Given the description of an element on the screen output the (x, y) to click on. 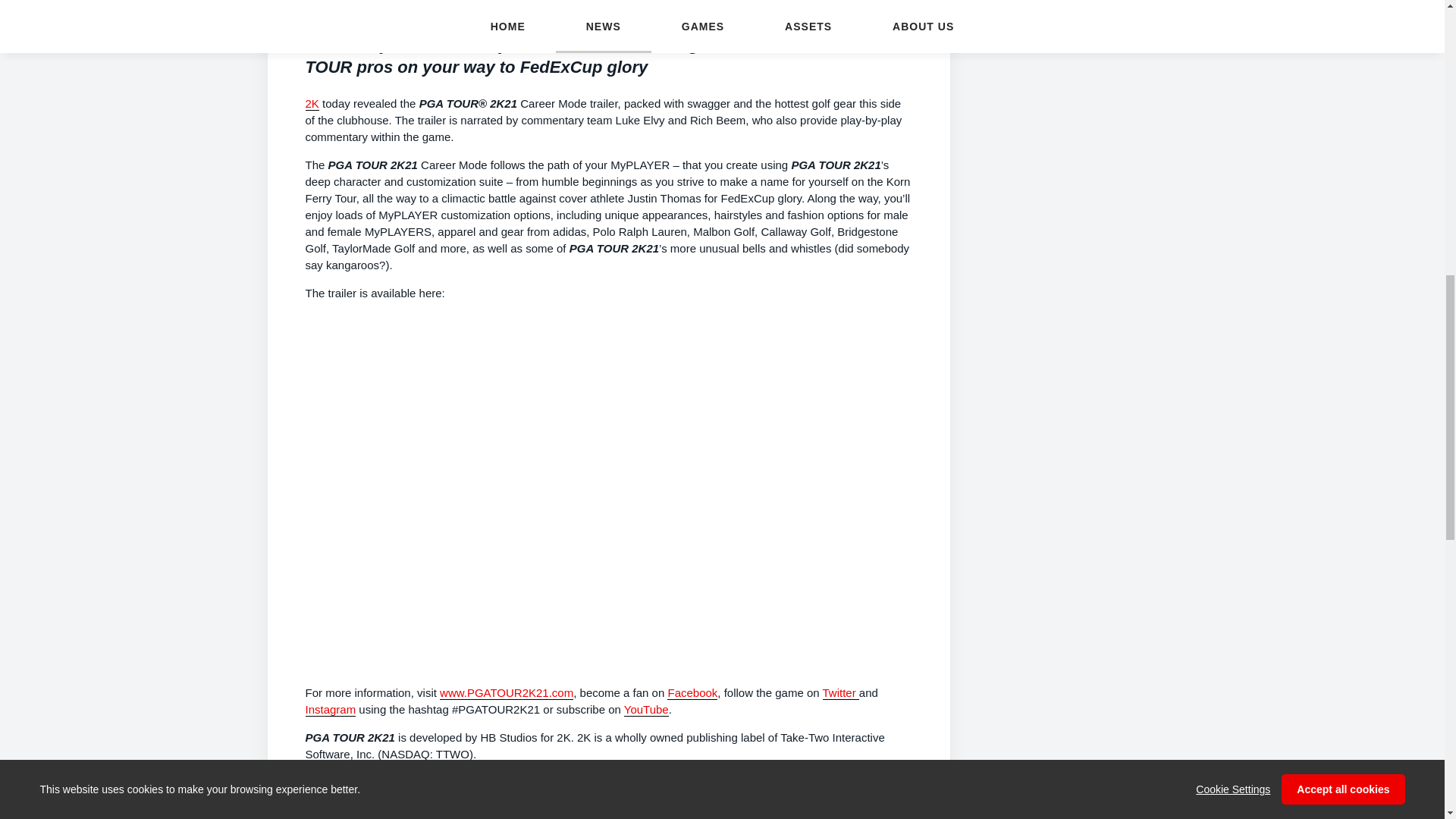
2K (311, 103)
www.PGATOUR2K21.com (506, 692)
Facebook (691, 692)
Instagram (329, 708)
Twitter  (840, 692)
YouTube (646, 708)
